Given the description of an element on the screen output the (x, y) to click on. 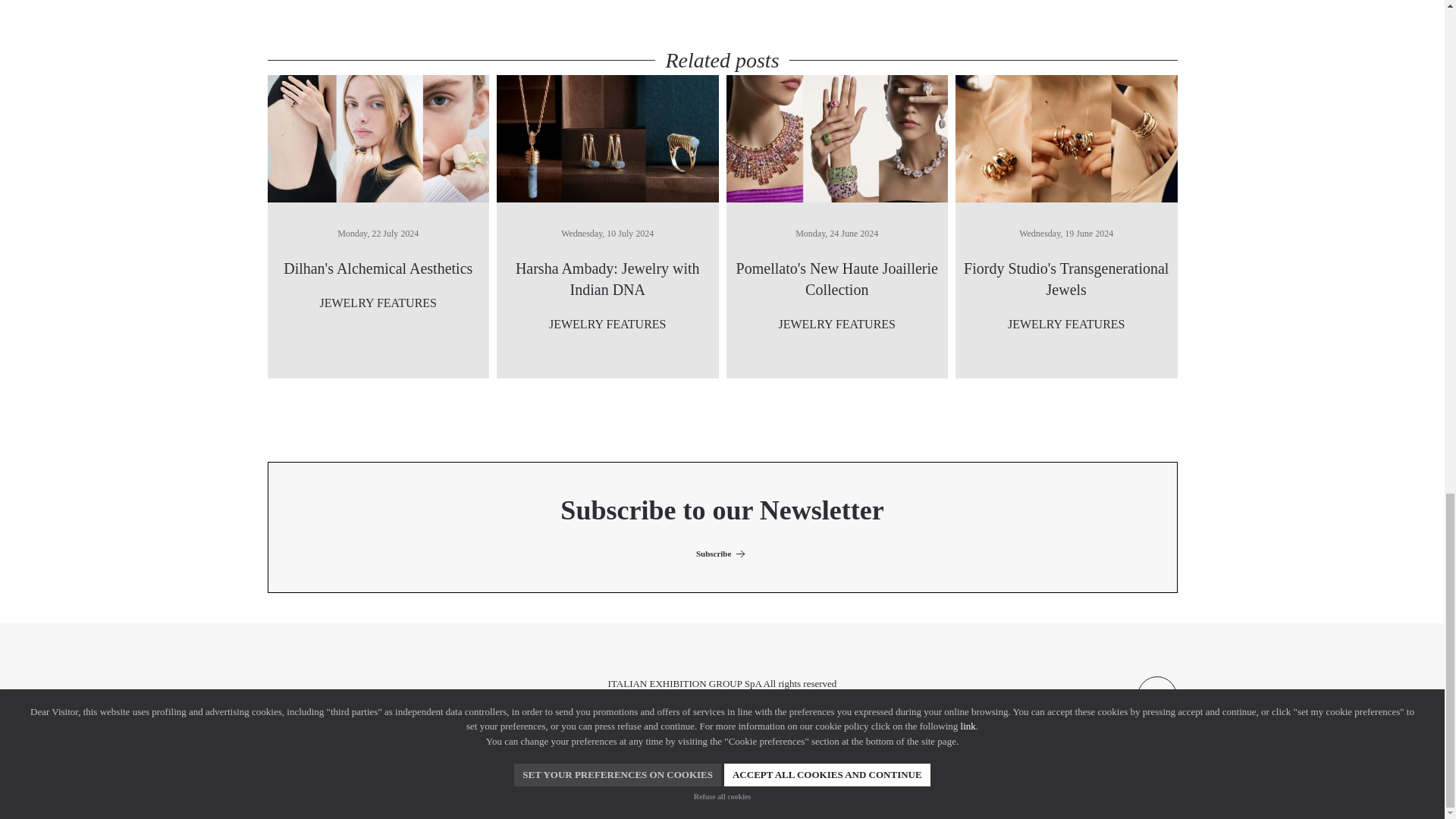
Harsha Ambady: Jewelry with Indian DNA (607, 138)
Fiordy Studio's Transgenerational Jewels (1066, 279)
JEWELRY FEATURES (607, 323)
Pomellato's New Haute Joaillerie Collection (836, 279)
JEWELRY FEATURES (836, 323)
Dilhan's Alchemical Aesthetics (377, 137)
Dilhan's Alchemical Aesthetics (377, 268)
Dilhan's Alchemical Aesthetics (377, 268)
Pomellato's New Haute Joaillerie Collection (836, 279)
Fiordy Studio's Transgenerational Jewels (1066, 137)
